Given the description of an element on the screen output the (x, y) to click on. 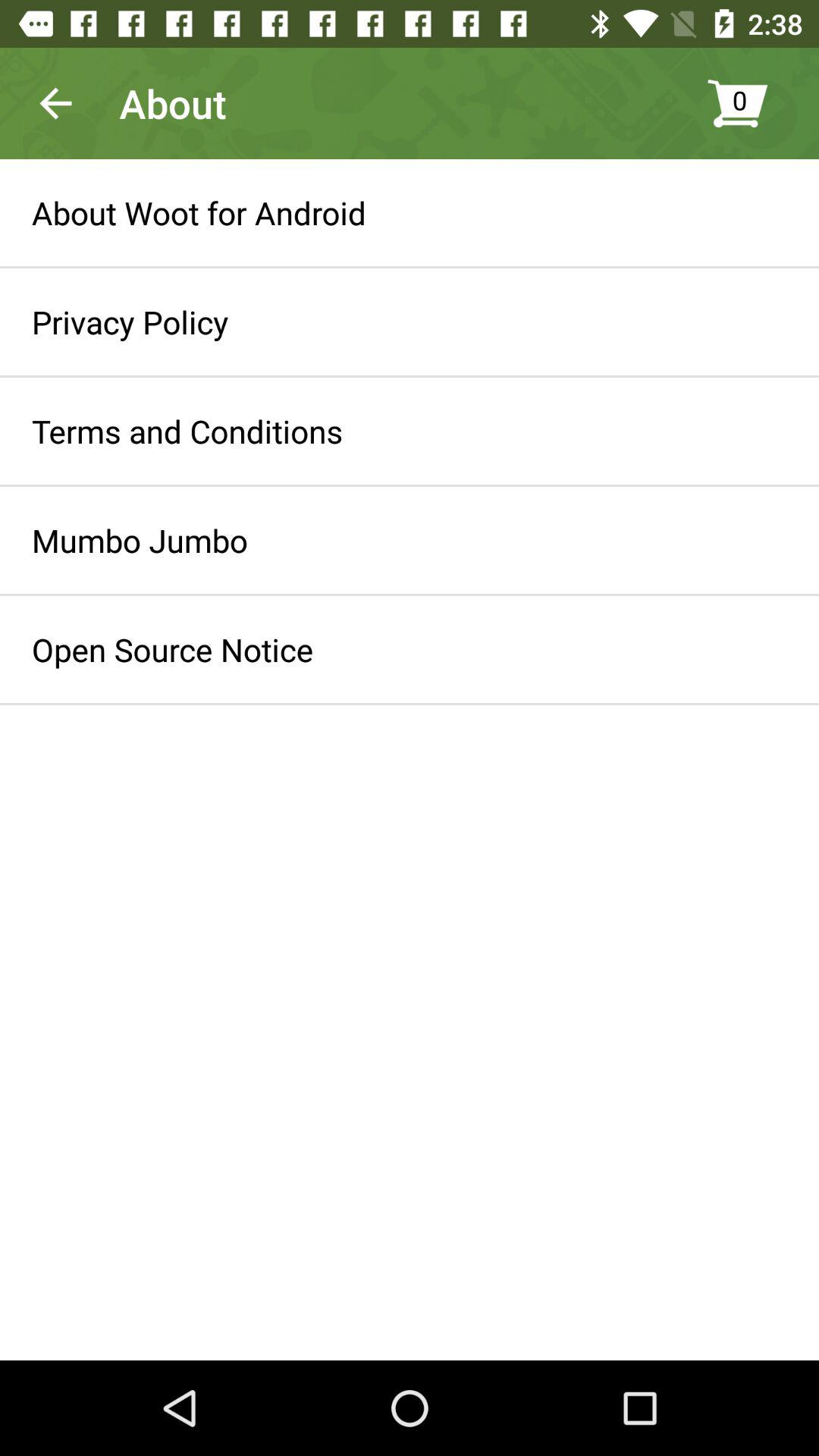
select 0 icon (755, 103)
